Given the description of an element on the screen output the (x, y) to click on. 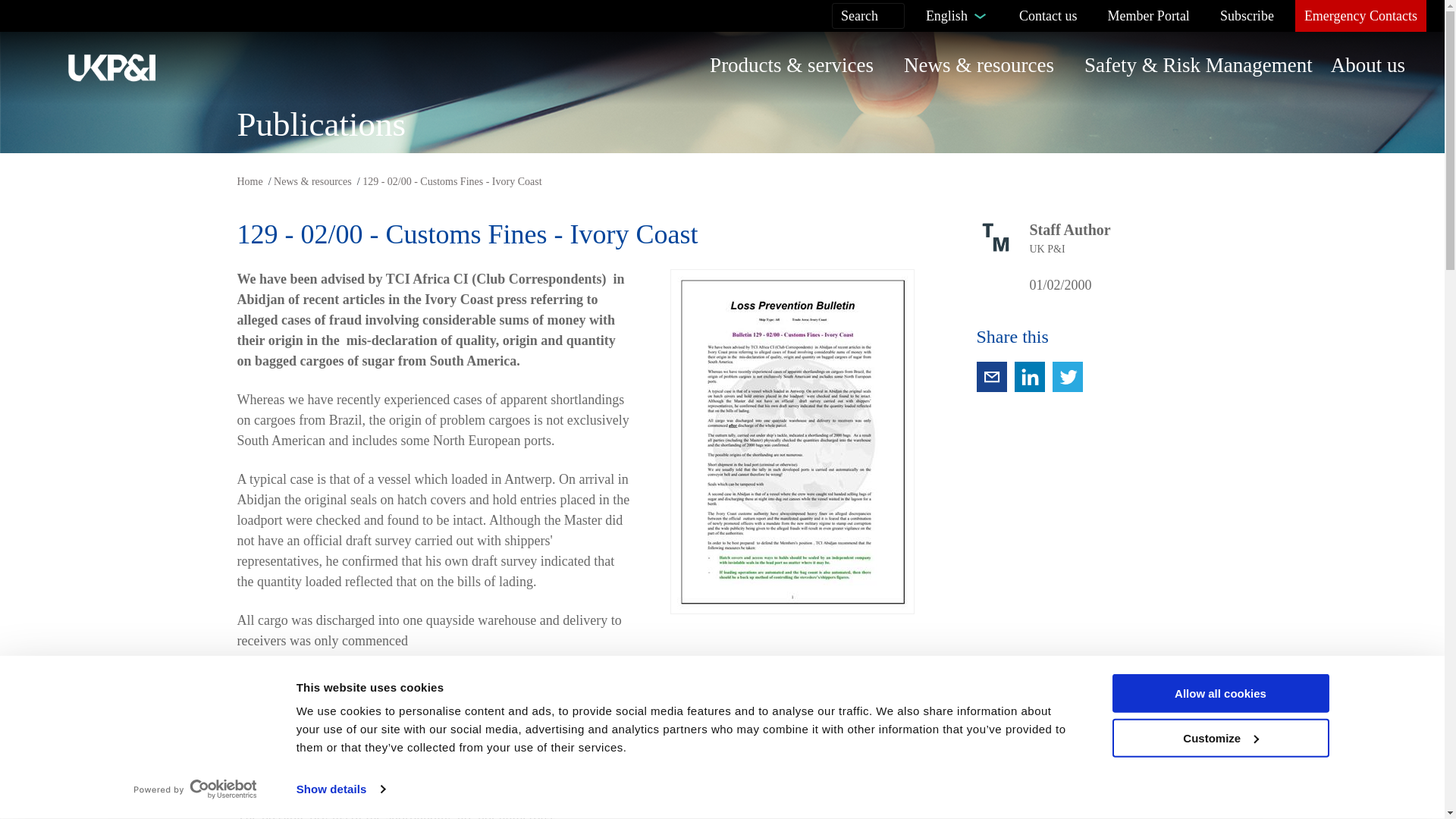
Show details (340, 789)
Allow all cookies (1219, 693)
Customize (1219, 738)
